Given the description of an element on the screen output the (x, y) to click on. 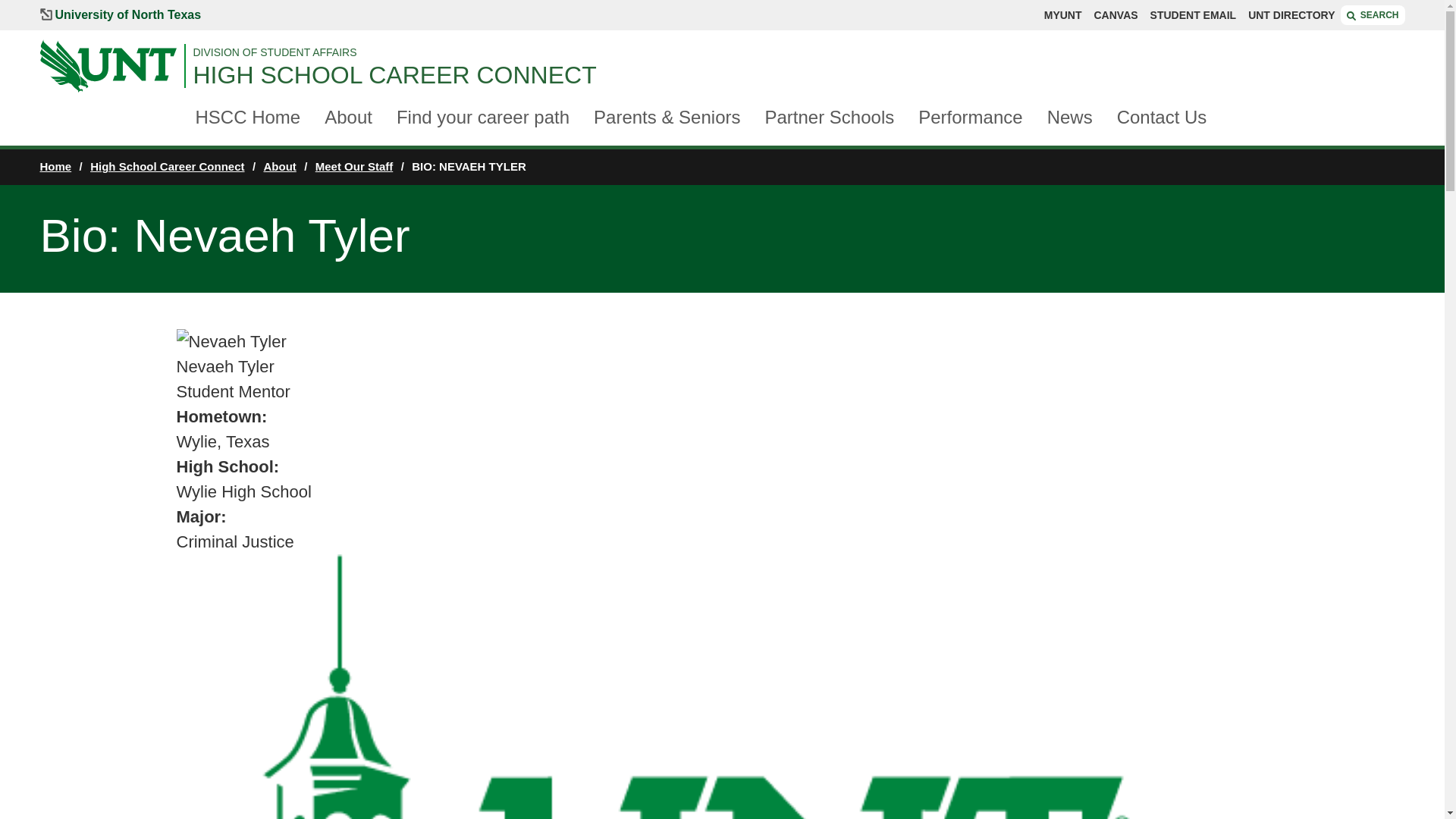
Performance (970, 118)
Find your career path (482, 118)
DIVISION OF STUDENT AFFAIRS (798, 52)
HSCC Home (248, 118)
HIGH SCHOOL CAREER CONNECT (798, 74)
Contact Us (1161, 118)
UNT DIRECTORY (1291, 15)
CANVAS (1115, 15)
Division of Student Affairs (798, 52)
high school career connect (798, 74)
SEARCH (1372, 14)
Partner Schools (828, 118)
News (1069, 118)
Skip to main content (82, 7)
About (348, 118)
